Given the description of an element on the screen output the (x, y) to click on. 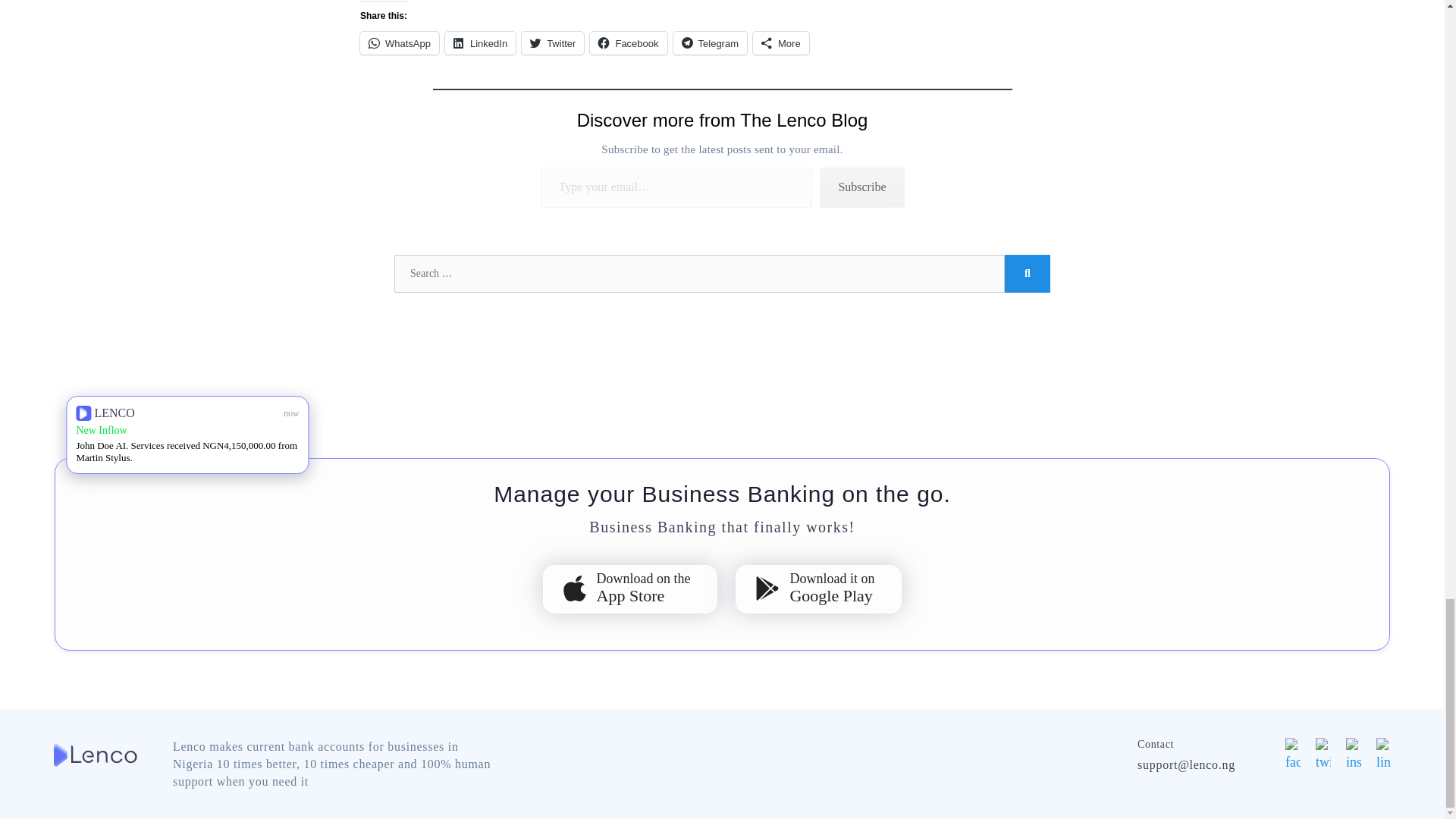
LinkedIn (480, 42)
Click to share on WhatsApp (399, 42)
Search (1026, 273)
Subscribe (861, 187)
WhatsApp (399, 42)
Facebook (627, 42)
Click to share on Telegram (709, 42)
Twitter (552, 42)
Please fill in this field. (676, 187)
Telegram (709, 42)
Click to share on LinkedIn (480, 42)
Click to share on Facebook (627, 42)
More (780, 42)
Click to share on Twitter (552, 42)
